Given the description of an element on the screen output the (x, y) to click on. 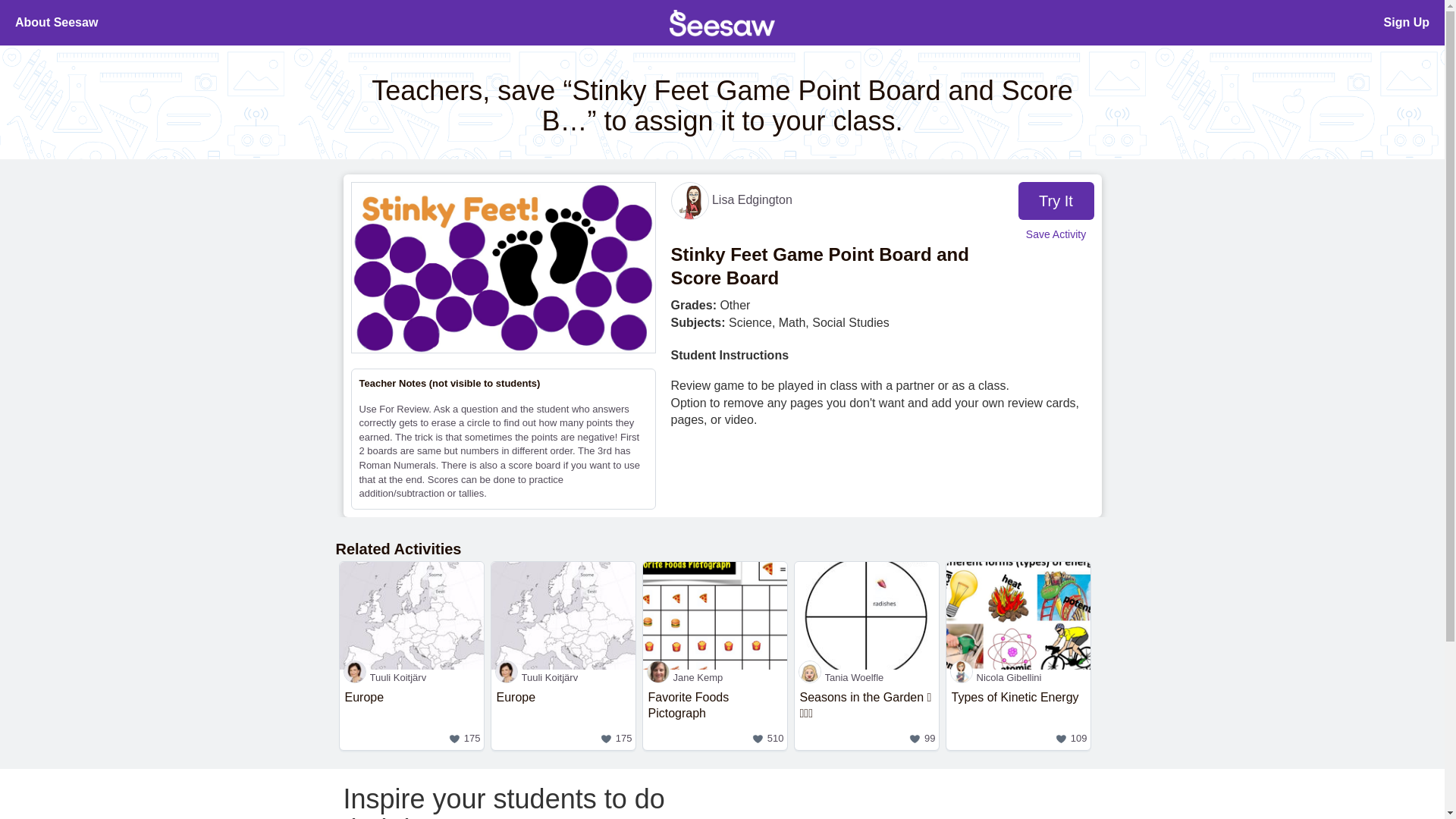
Try It (1055, 200)
Lisa Edgington (730, 199)
Tania Woelfle (866, 677)
Save Activity (1056, 234)
About Seesaw (411, 716)
Nicola Gibellini (55, 22)
Jane Kemp (715, 716)
